Given the description of an element on the screen output the (x, y) to click on. 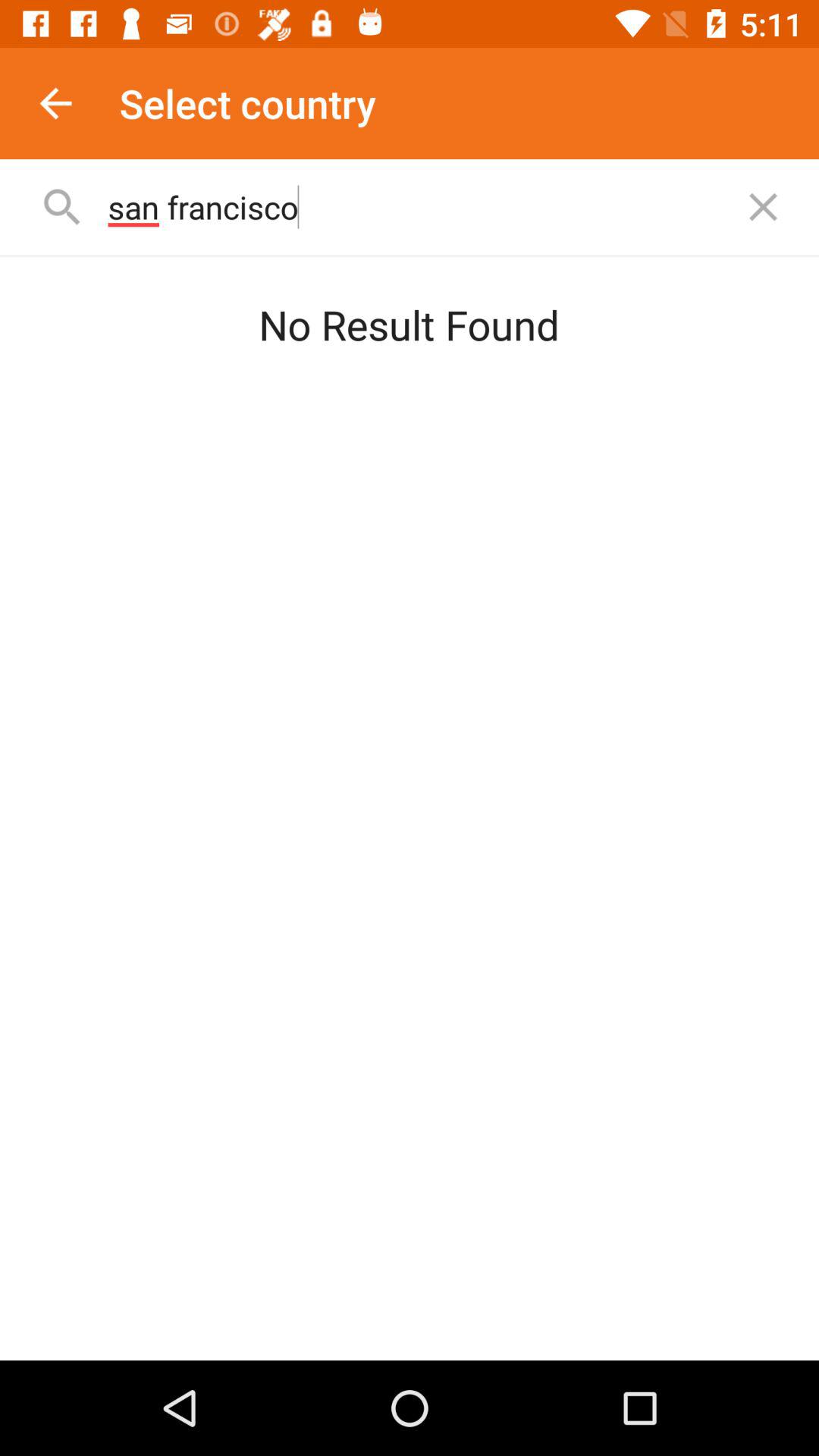
turn off the item next to san francisco (763, 206)
